Given the description of an element on the screen output the (x, y) to click on. 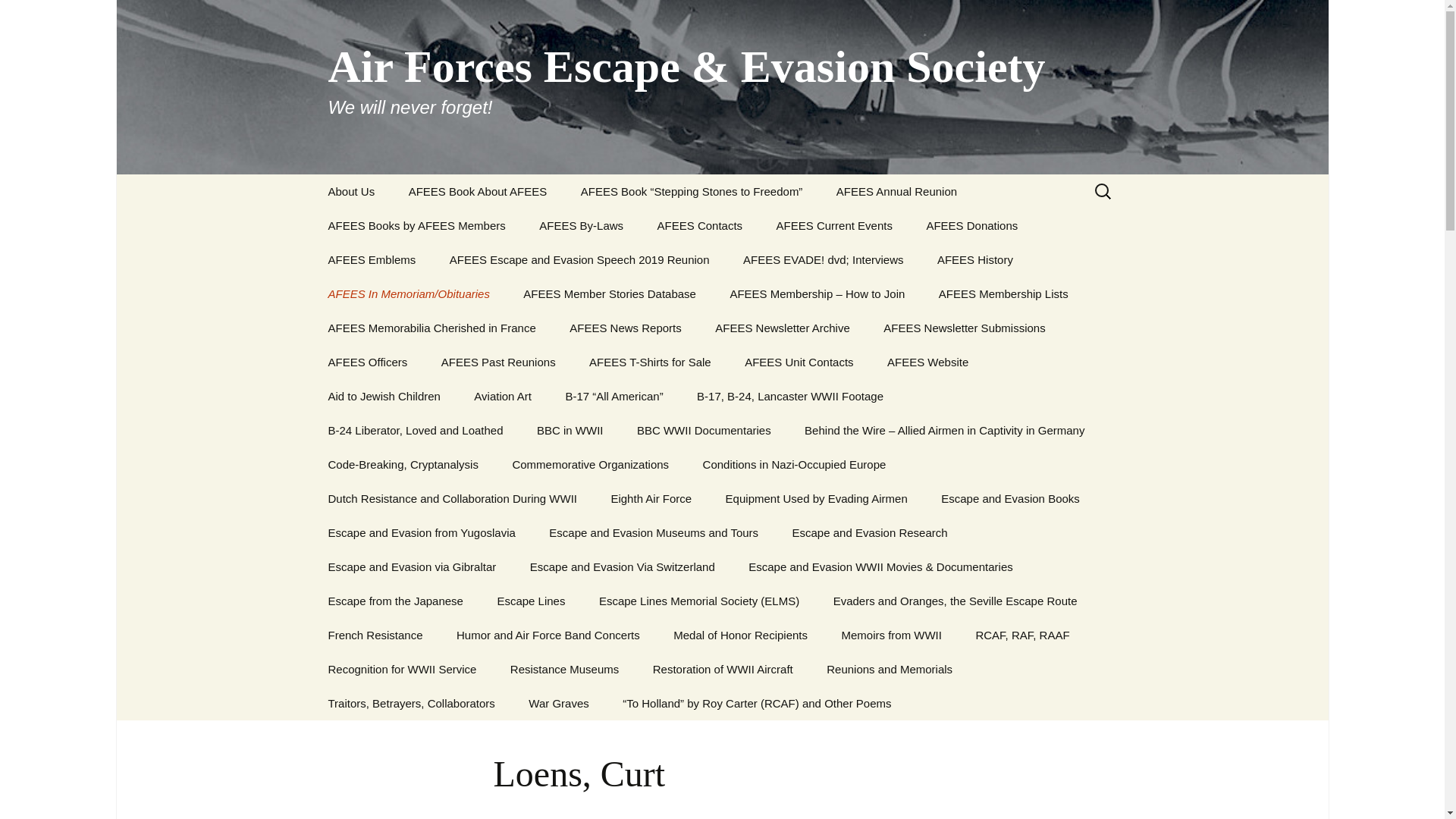
AFEES Annual Reunion (896, 191)
AFEES Emblems (371, 259)
AFEES Donations (971, 225)
AFEES Books by AFEES Members (416, 225)
AFEES Escape and Evasion Speech 2019 Reunion (579, 259)
AFEES EVADE! dvd; Interviews (823, 259)
AFEES History (974, 259)
AFEES Contacts (700, 225)
AFEES Member Activities (836, 265)
